Given the description of an element on the screen output the (x, y) to click on. 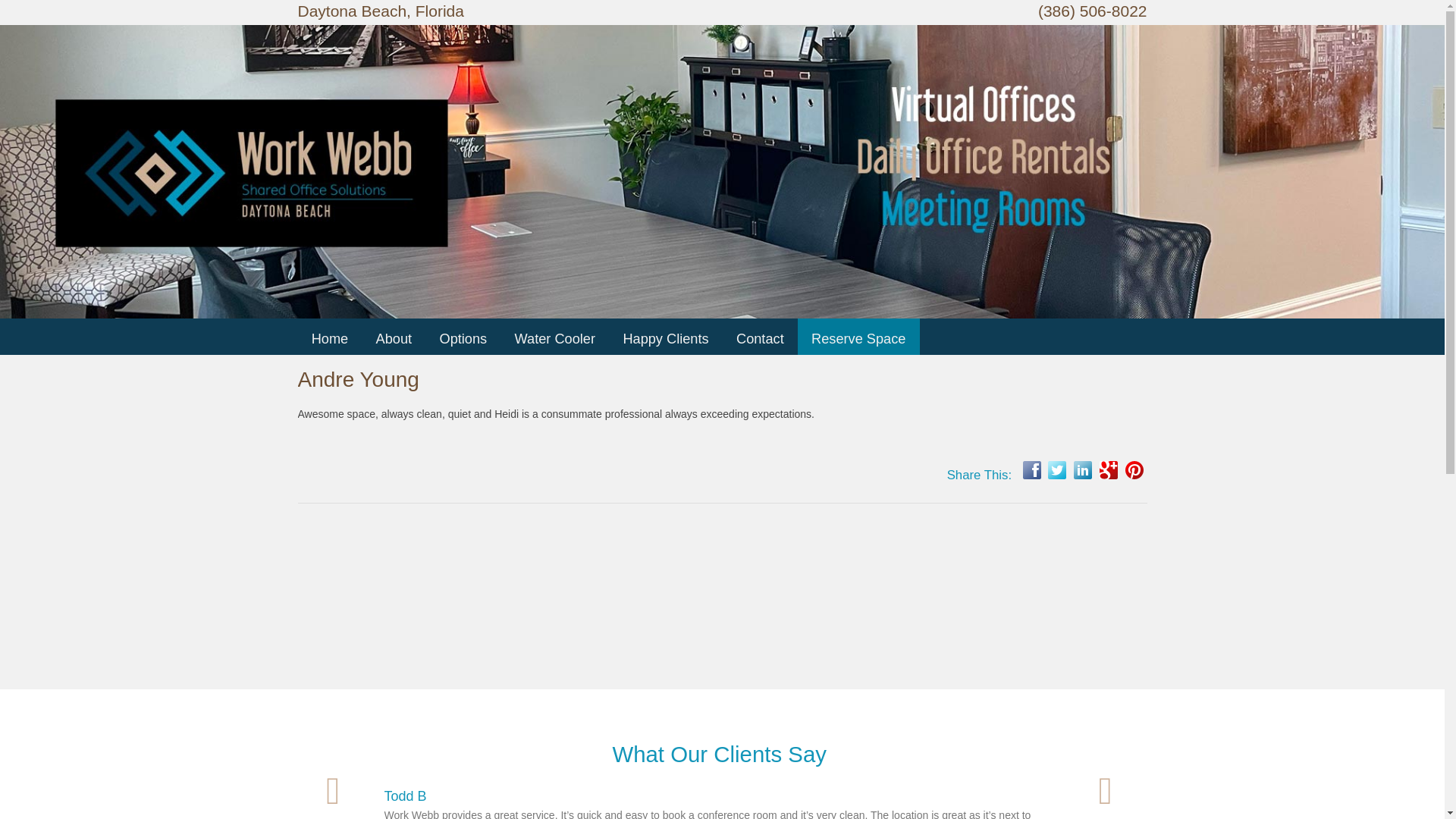
Options (462, 339)
Share this post on Facebook (1032, 470)
Happy Clients (665, 339)
Water Cooler (555, 339)
Home (330, 339)
Andre Young (358, 379)
Share this with your Twitter followers (1056, 470)
About (393, 339)
Todd B (405, 795)
Contact (760, 339)
Reserve Space (857, 339)
